Given the description of an element on the screen output the (x, y) to click on. 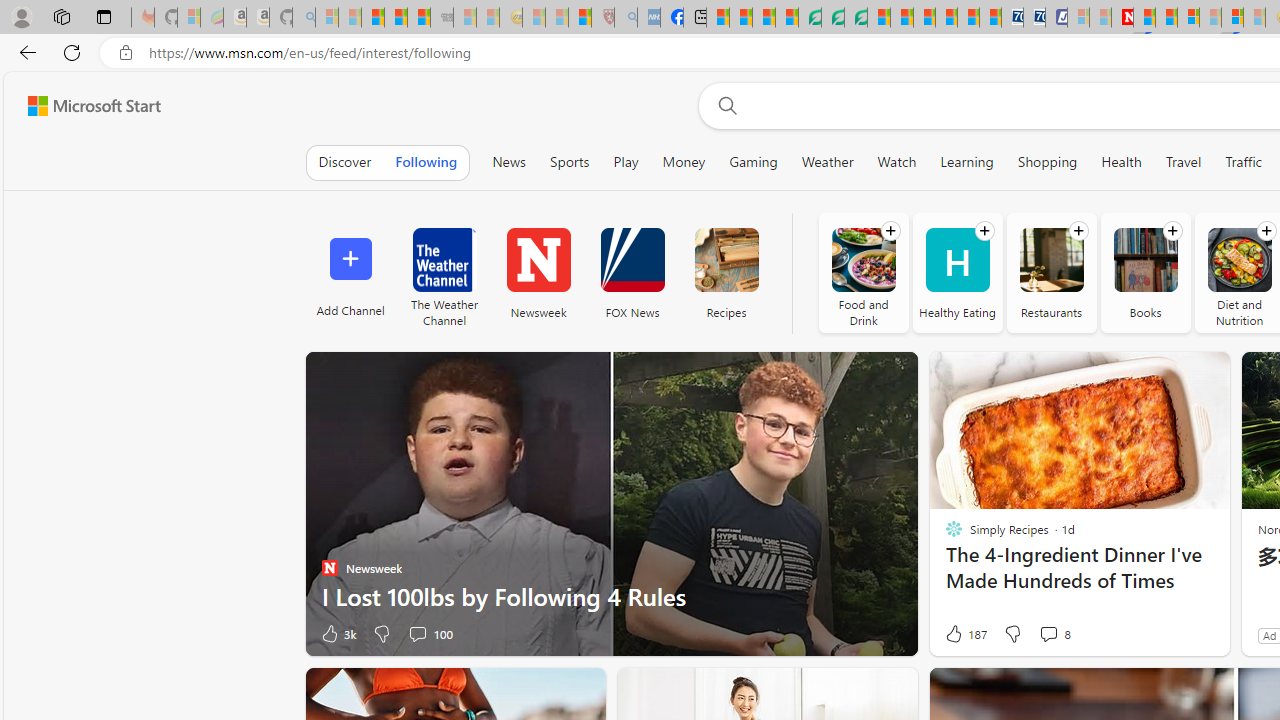
Learning (967, 162)
View comments 100 Comment (429, 633)
Gaming (752, 162)
Shopping (1047, 162)
Restaurants (1051, 272)
Shopping (1047, 161)
Recipes (725, 272)
Health (1121, 161)
